Given the description of an element on the screen output the (x, y) to click on. 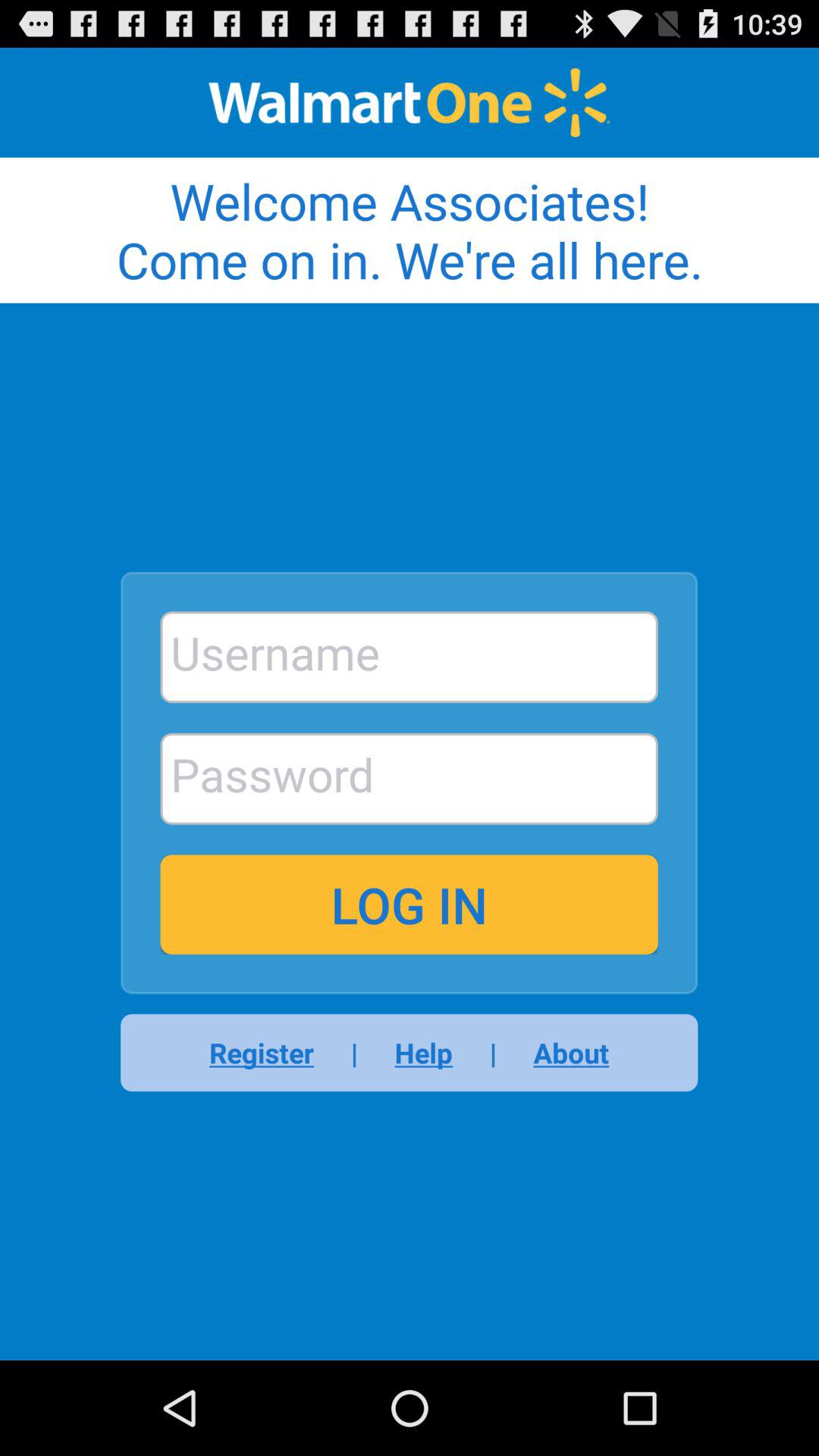
tap item next to the | item (560, 1052)
